Given the description of an element on the screen output the (x, y) to click on. 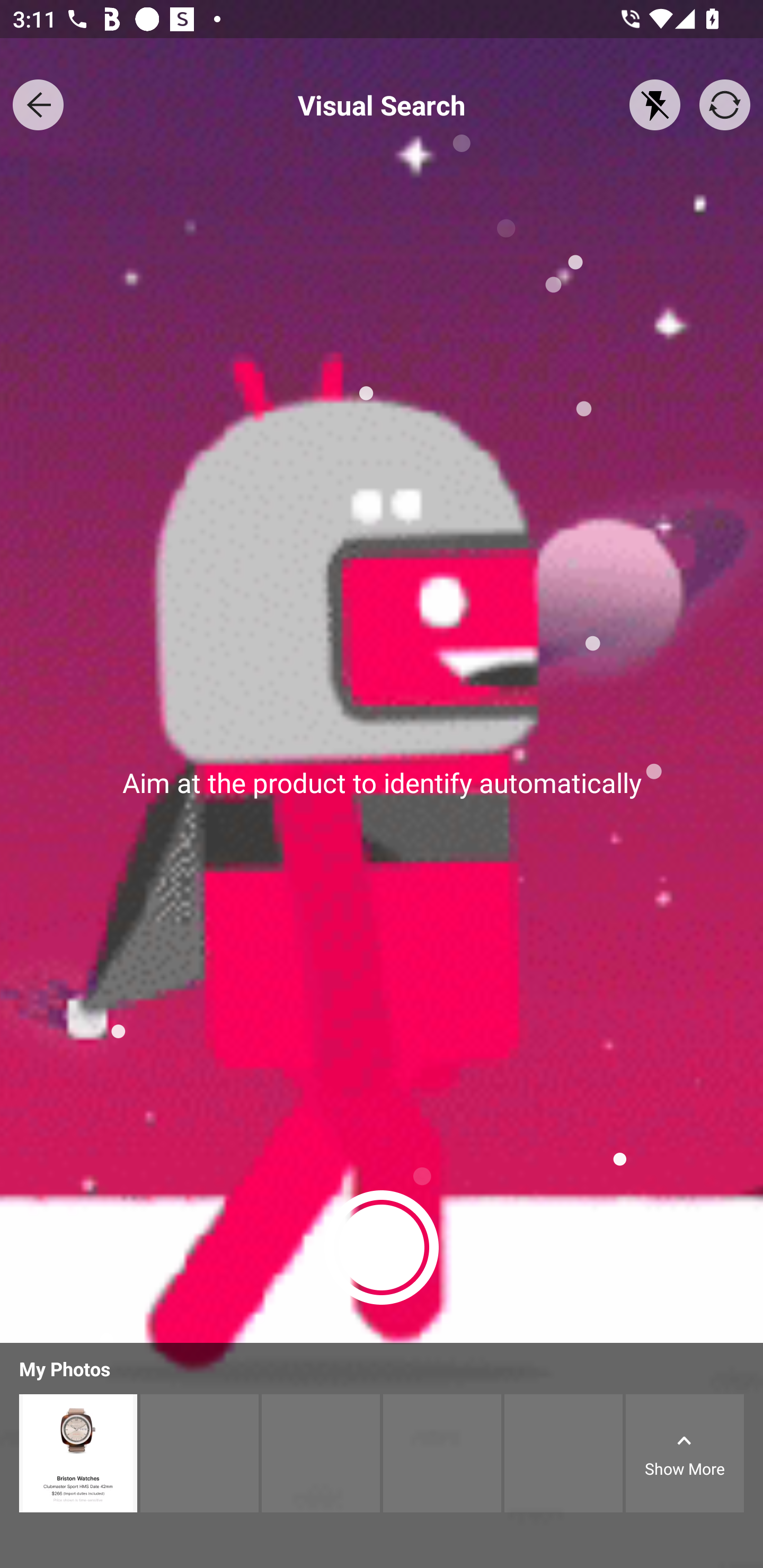
Show More (684, 1453)
